Given the description of an element on the screen output the (x, y) to click on. 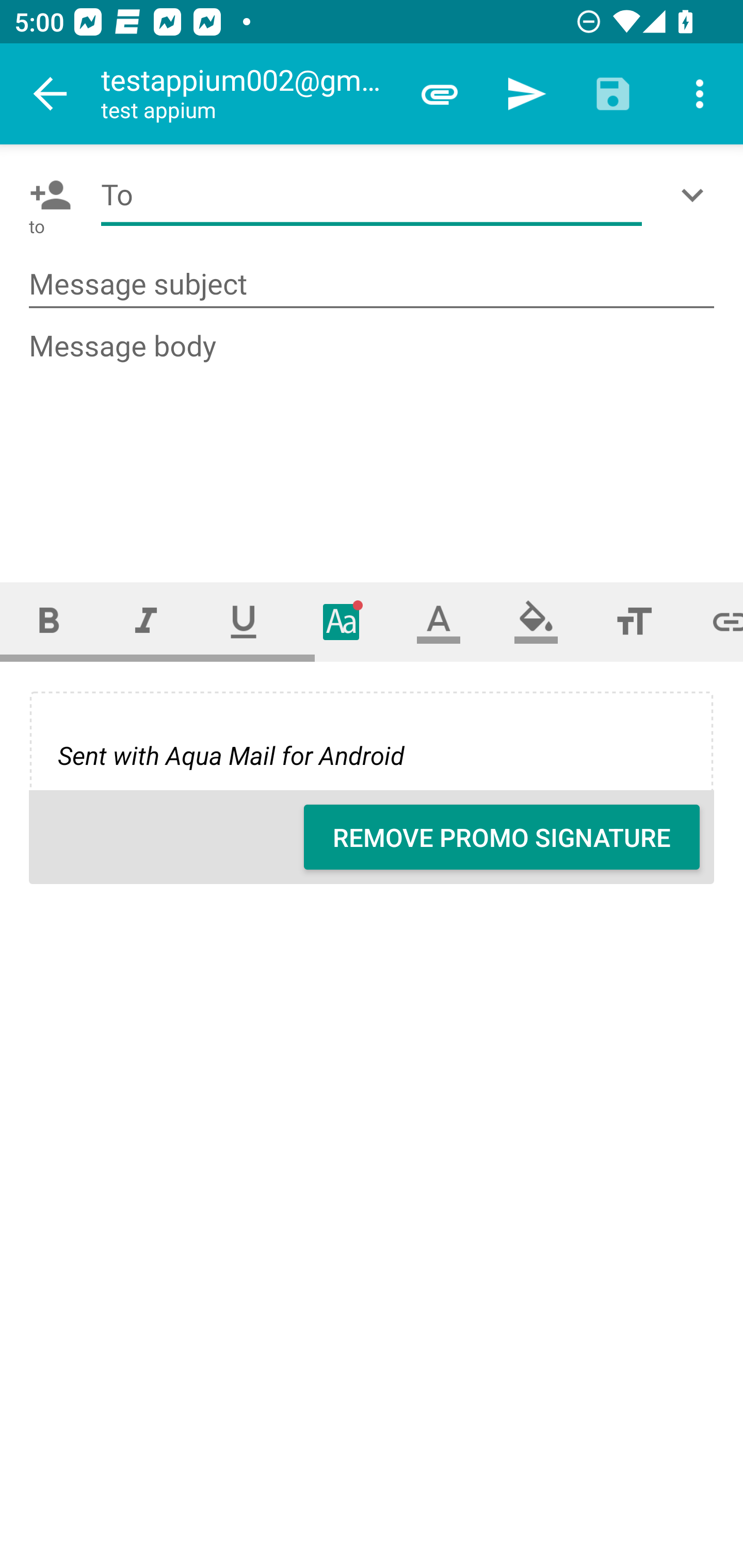
Navigate up (50, 93)
testappium002@gmail.com test appium (248, 93)
Attach (439, 93)
Send (525, 93)
Save (612, 93)
More options (699, 93)
Pick contact: To (46, 195)
Show/Add CC/BCC (696, 195)
To (371, 195)
Message subject (371, 284)
Bold (48, 621)
Italic (145, 621)
Underline (243, 621)
Typeface (font) (341, 621)
Text color (438, 621)
Fill color (536, 621)
Font size (633, 621)
Set link (712, 621)
REMOVE PROMO SIGNATURE (501, 837)
